Given the description of an element on the screen output the (x, y) to click on. 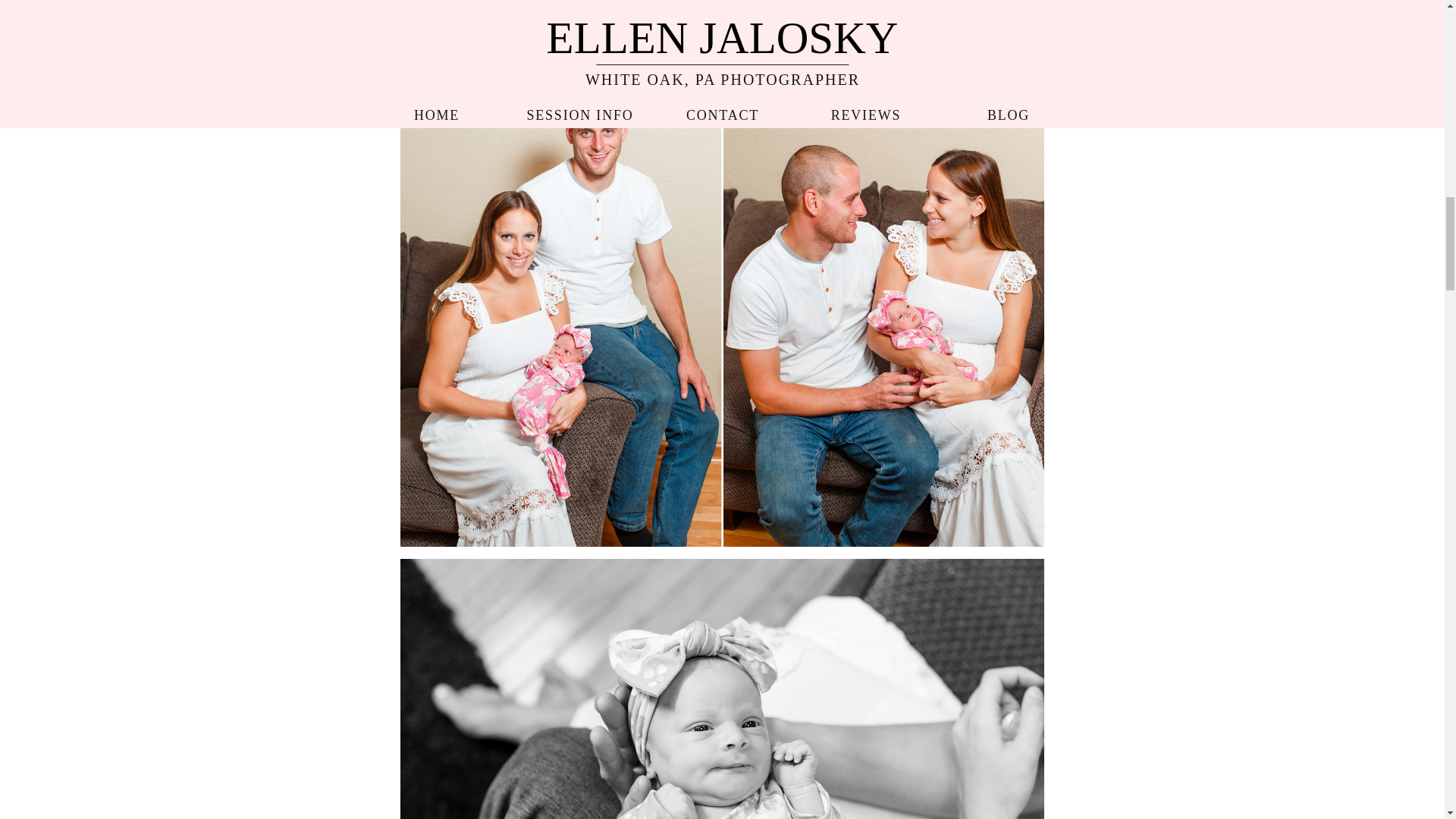
At Home Newborn Photos (721, 27)
